Given the description of an element on the screen output the (x, y) to click on. 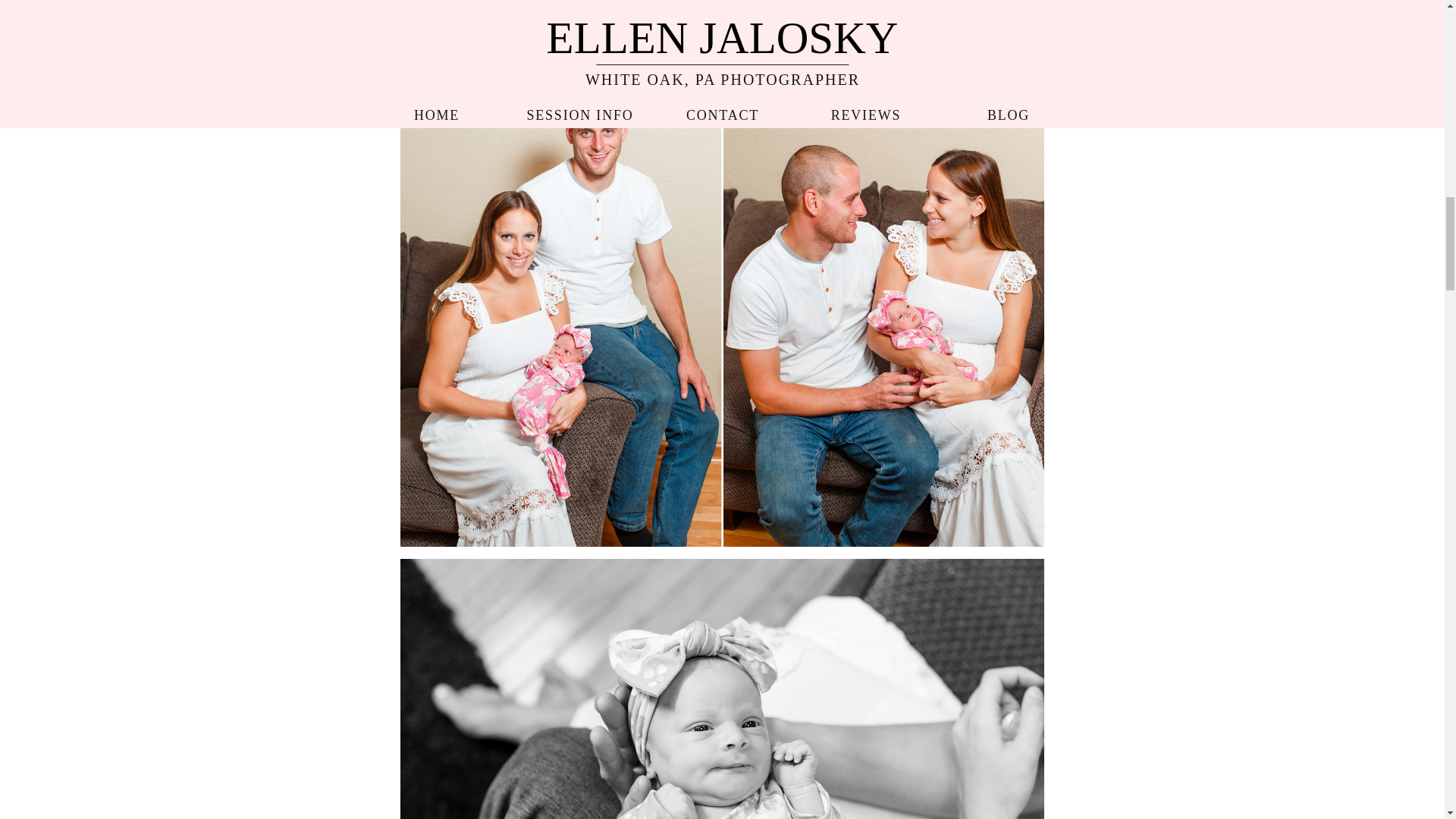
At Home Newborn Photos (721, 27)
